Given the description of an element on the screen output the (x, y) to click on. 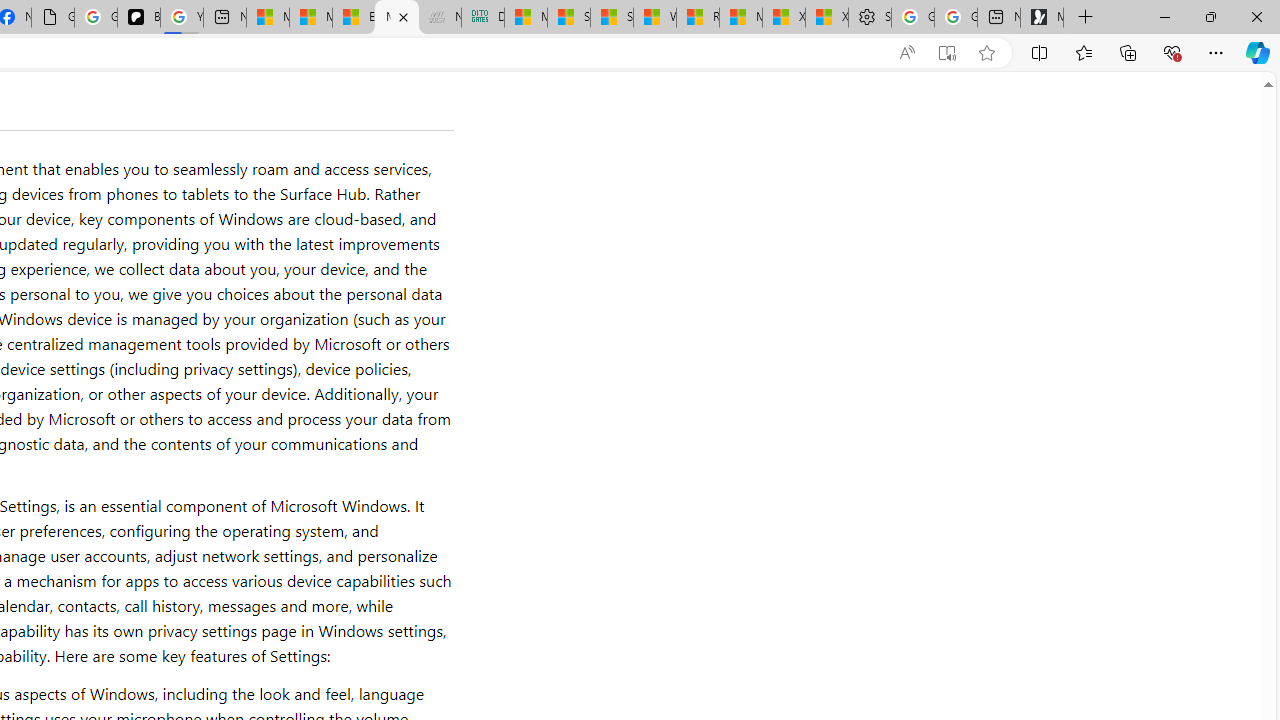
Google Analytics Opt-out Browser Add-on Download Page (53, 17)
